Given the description of an element on the screen output the (x, y) to click on. 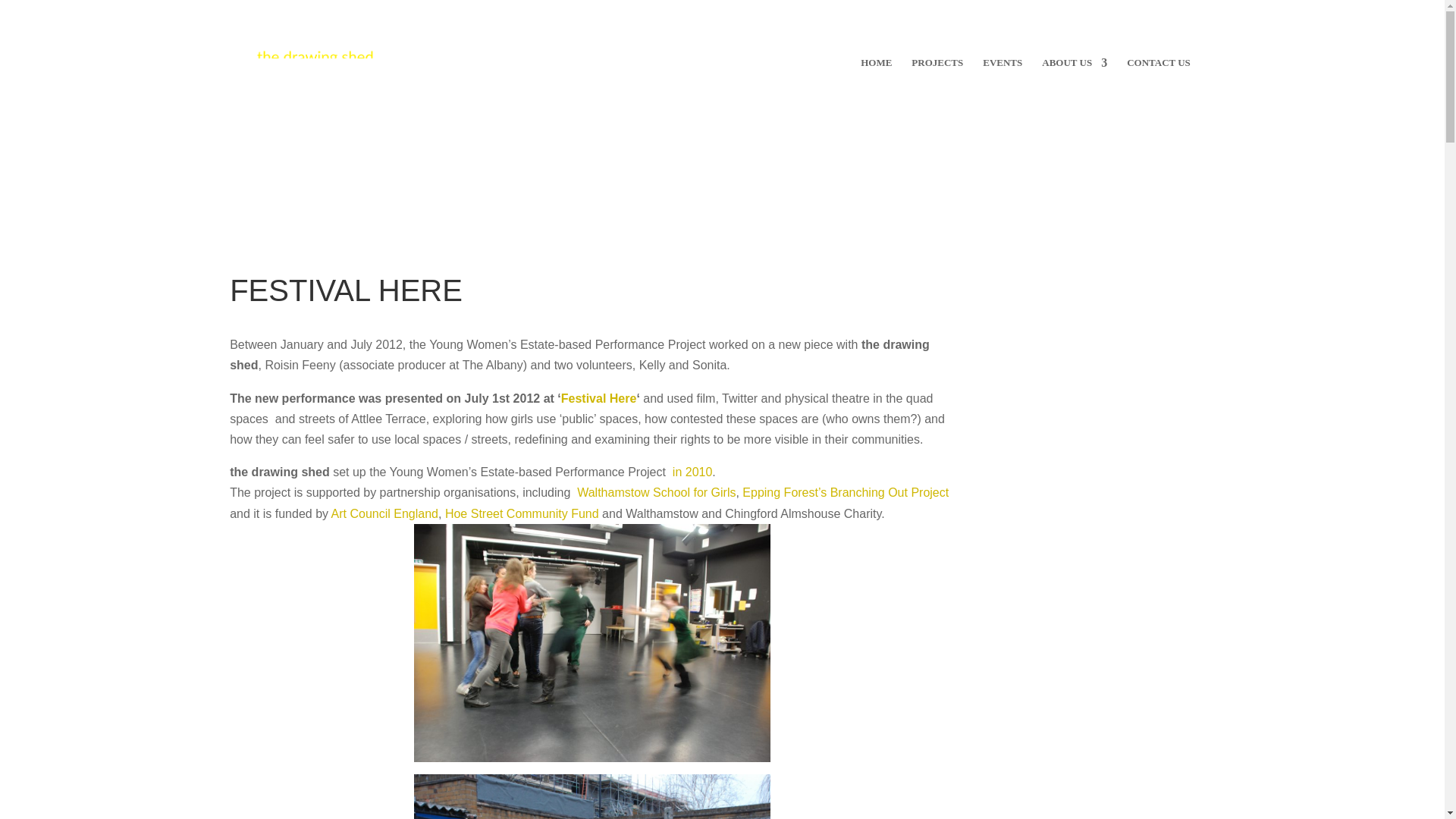
Walthamstow School for Girls (655, 492)
HOME (875, 73)
PROJECTS (936, 73)
CONTACT US (1158, 73)
ABOUT US (1074, 73)
Hoe Street Community Fund (523, 513)
Festival Here (598, 398)
in 2010 (692, 472)
Art Council England (384, 513)
EVENTS (1002, 73)
